Given the description of an element on the screen output the (x, y) to click on. 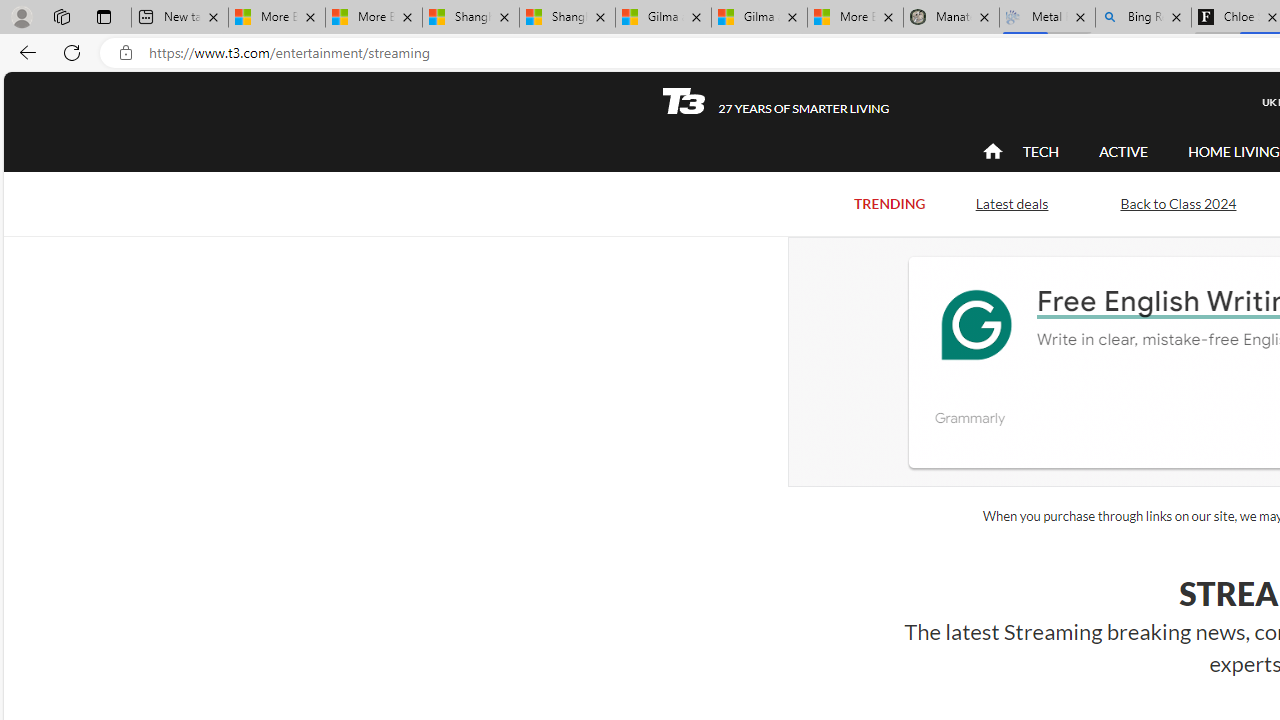
Gilma and Hector both pose tropical trouble for Hawaii (759, 17)
Manatee Mortality Statistics | FWC (951, 17)
HOME LIVING (1233, 151)
Class: navigation__item (990, 151)
Bing Real Estate - Home sales and rental listings (1143, 17)
Back to Class 2024 (1178, 204)
ACTIVE (1124, 151)
Back to Class 2024 (1178, 202)
ACTIVE (1124, 151)
HOME LIVING (1233, 151)
